Given the description of an element on the screen output the (x, y) to click on. 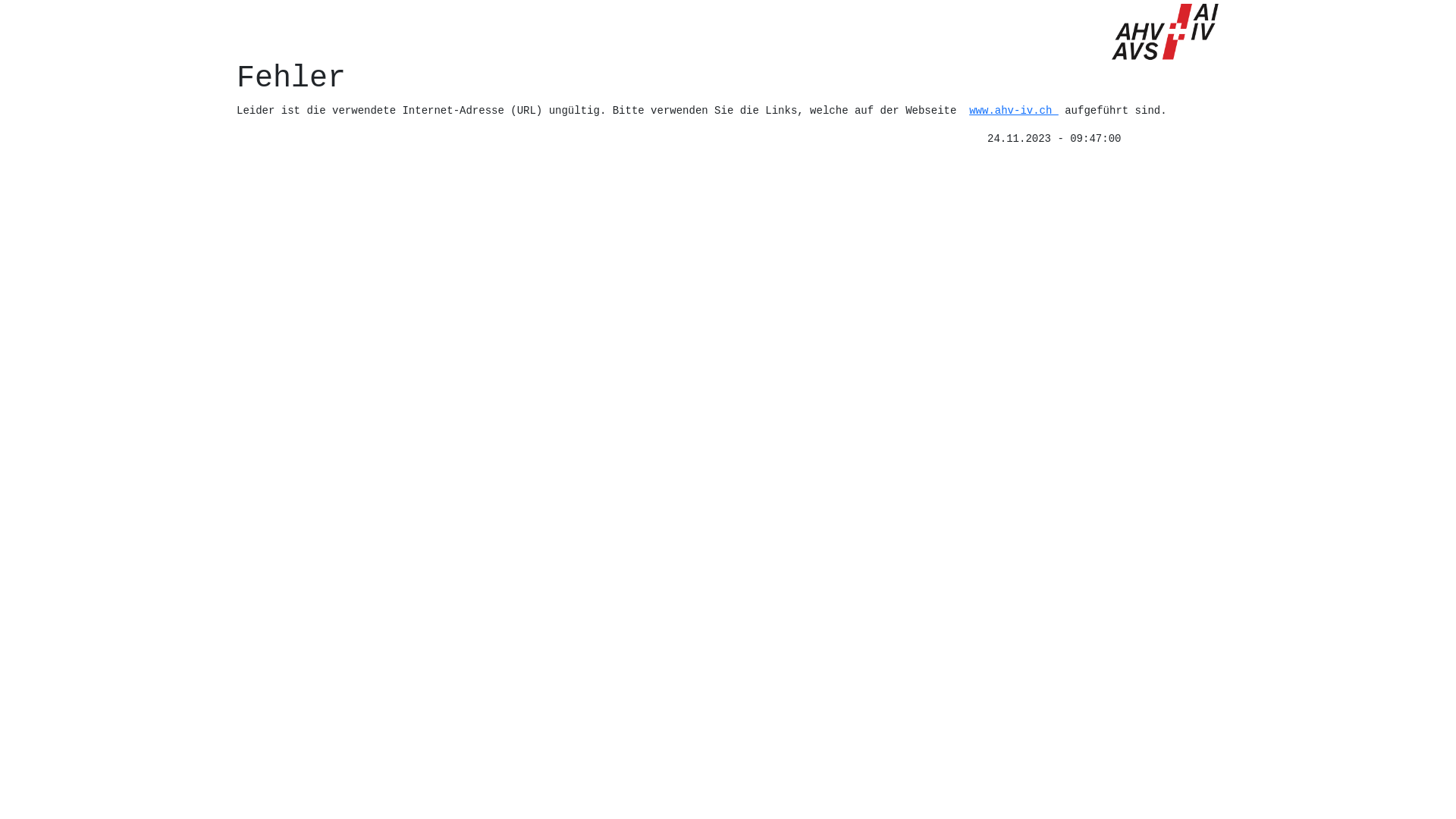
www.ahv-iv.ch Element type: text (1013, 110)
